Given the description of an element on the screen output the (x, y) to click on. 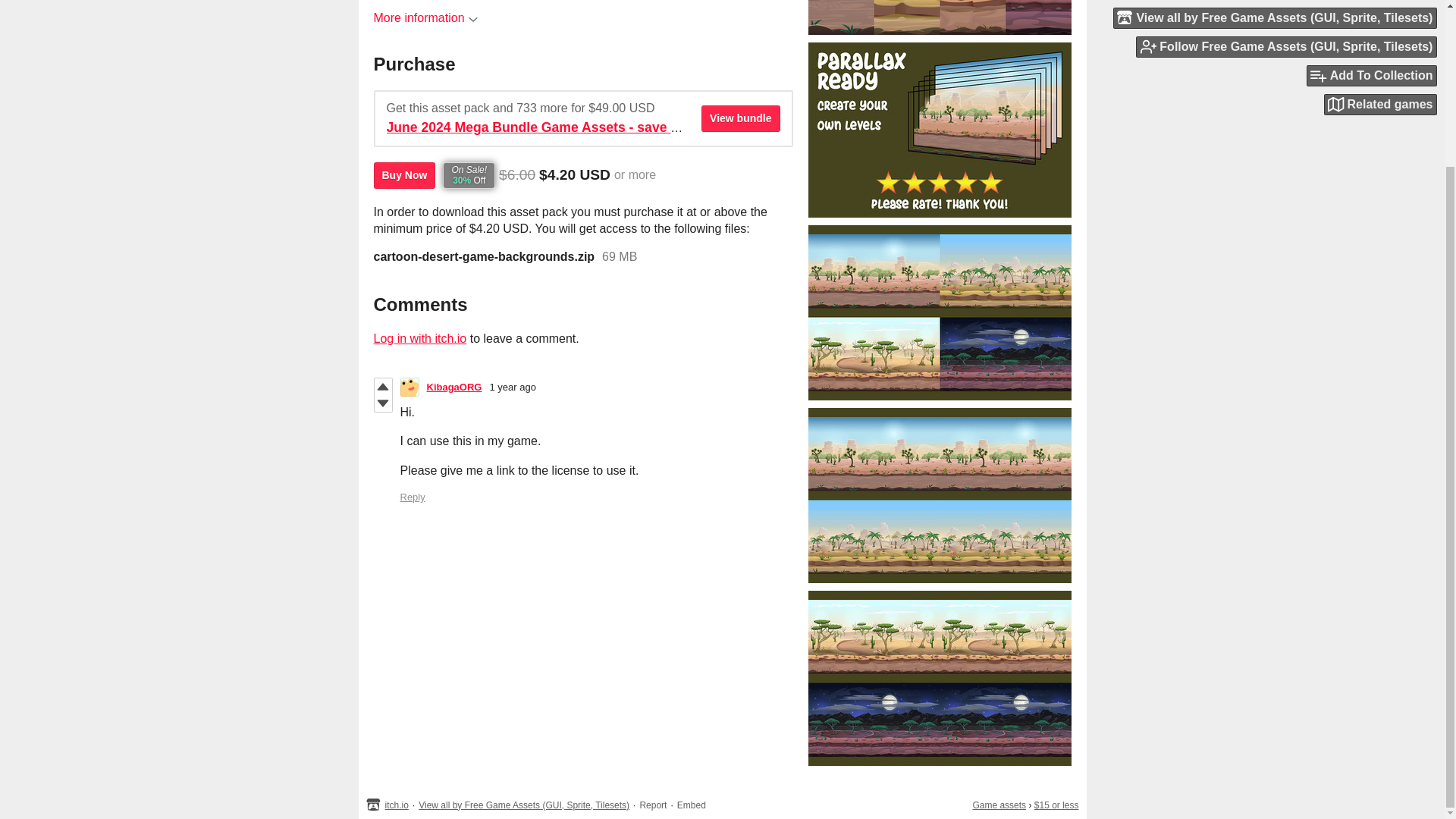
KibagaORG (453, 387)
More information (424, 17)
2023-06-07 08:33:31 (512, 387)
View bundle (739, 118)
Buy Now (403, 175)
Vote down (382, 402)
Log in with itch.io (418, 338)
Reply (412, 496)
cartoon-desert-game-backgrounds.zip (483, 256)
1 year ago (512, 387)
Vote up (382, 386)
